Given the description of an element on the screen output the (x, y) to click on. 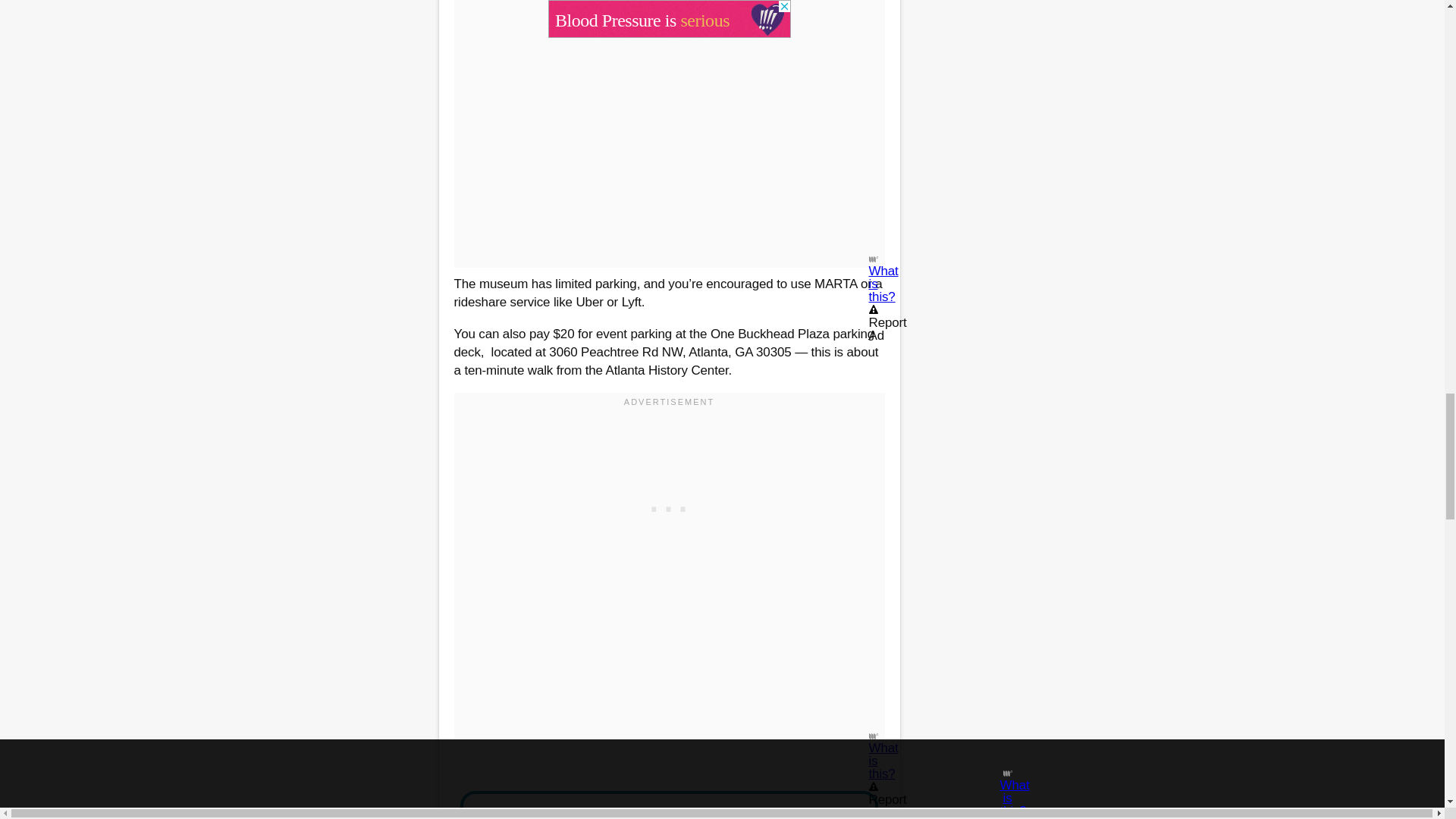
3rd party ad content (668, 505)
